Given the description of an element on the screen output the (x, y) to click on. 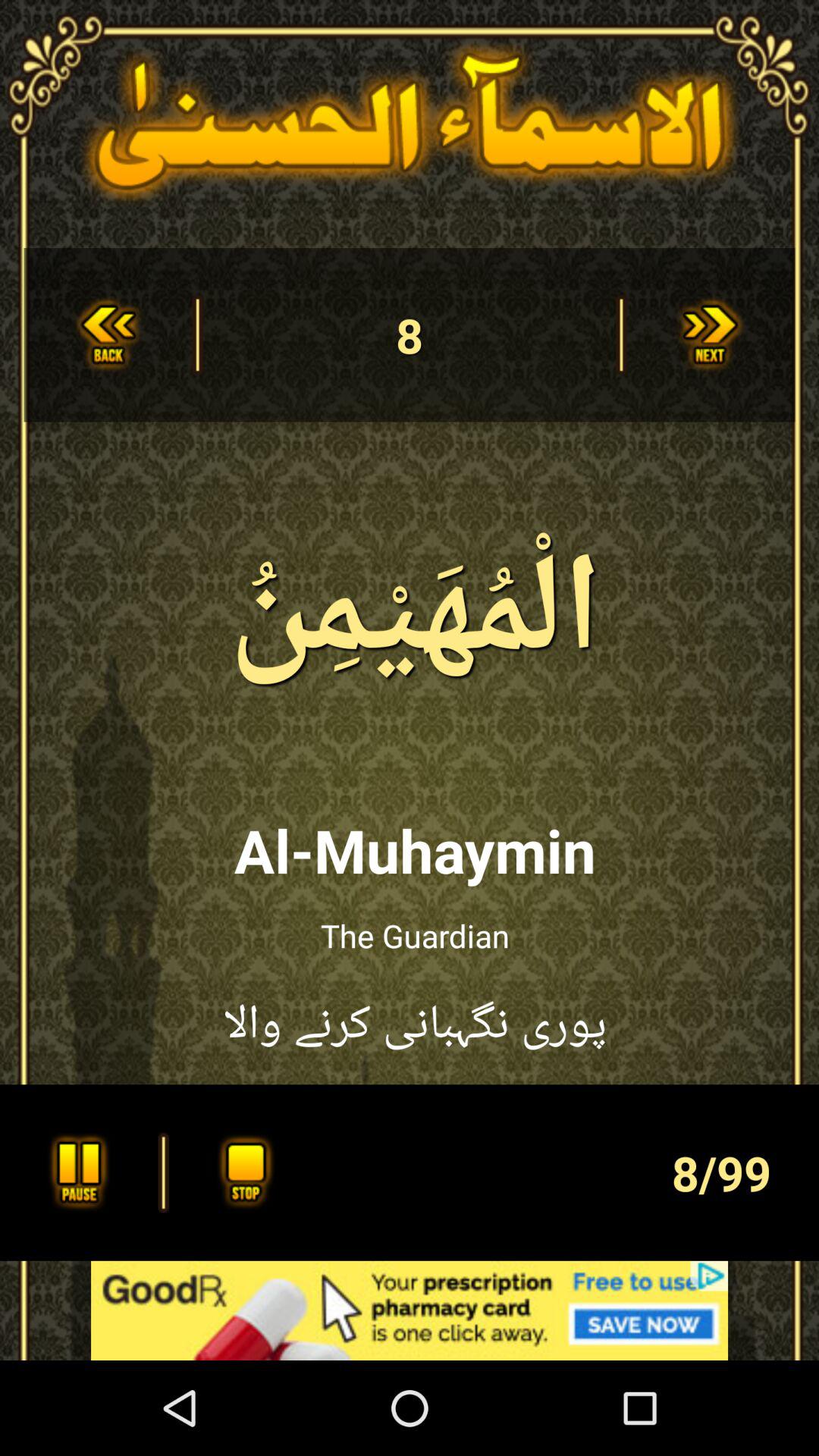
stop playing (241, 1172)
